Given the description of an element on the screen output the (x, y) to click on. 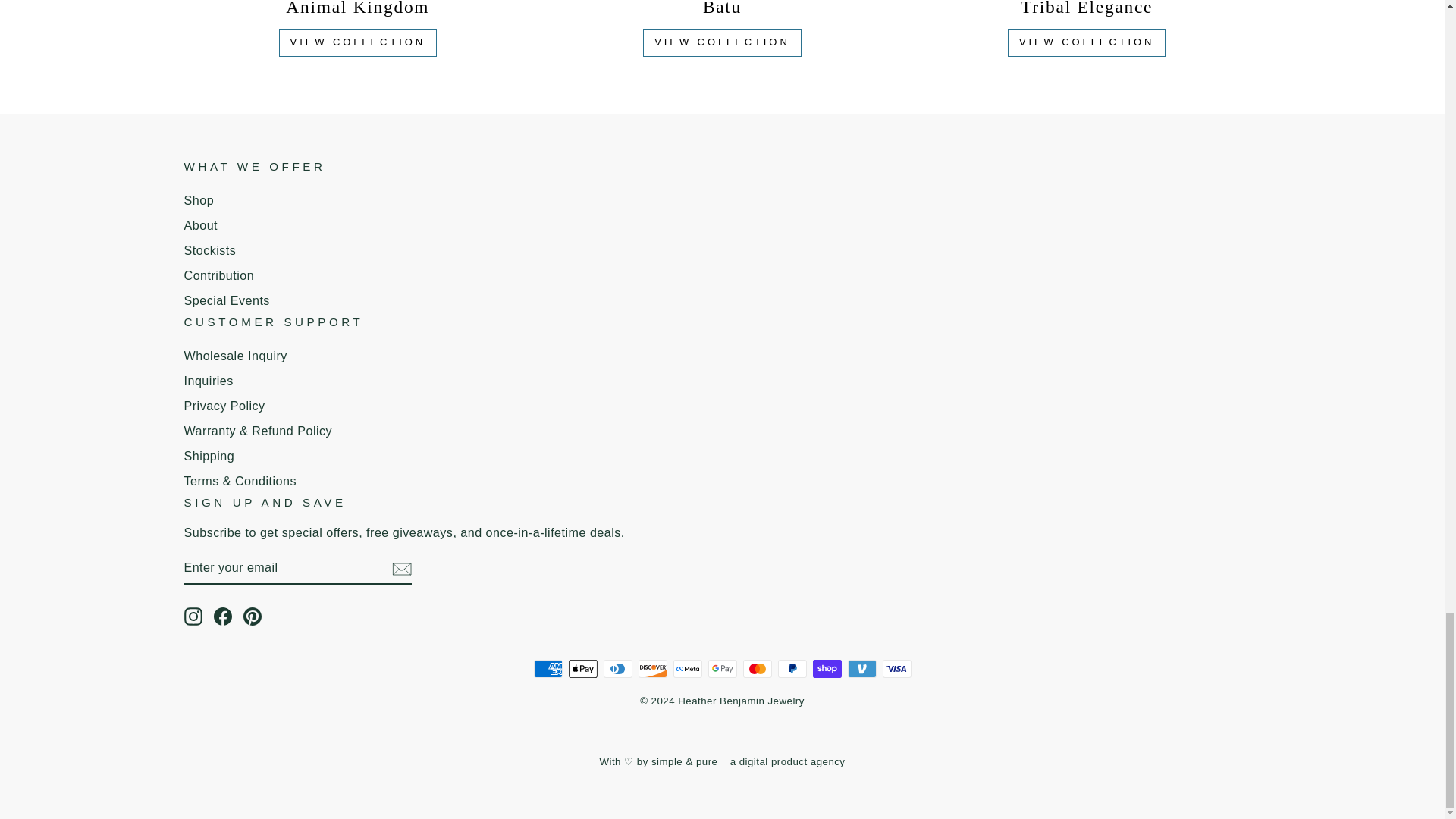
Meta Pay (686, 669)
Discover (652, 669)
Heather Benjamin Jewelry on Instagram (192, 616)
Heather Benjamin Jewelry on Facebook (222, 616)
Diners Club (617, 669)
Apple Pay (582, 669)
American Express (548, 669)
Heather Benjamin Jewelry on Pinterest (251, 616)
